Given the description of an element on the screen output the (x, y) to click on. 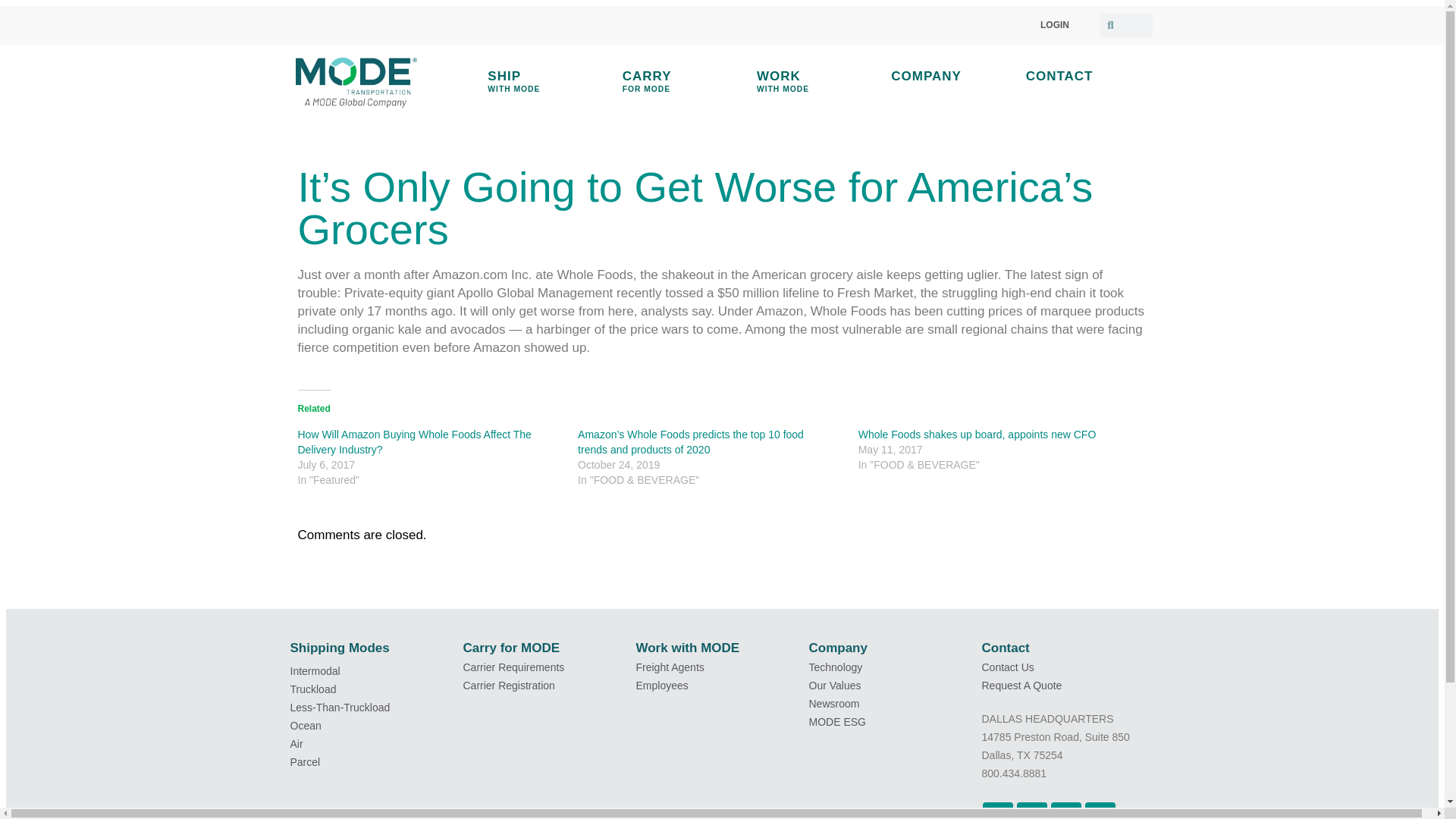
COMPANY (948, 76)
LOGIN (680, 82)
CONTACT (1054, 24)
Whole Foods shakes up board, appoints new CFO (1083, 76)
